Given the description of an element on the screen output the (x, y) to click on. 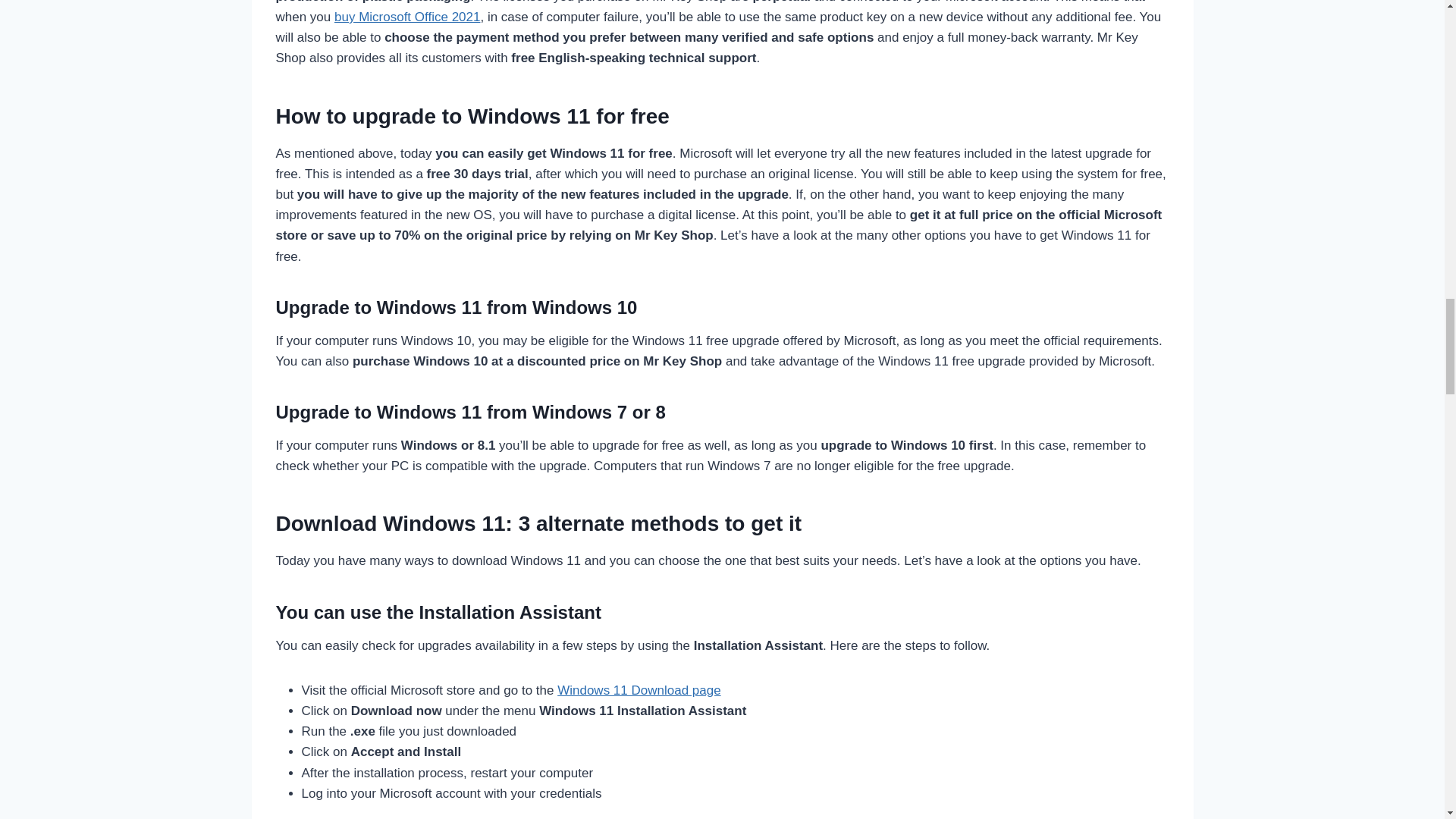
Windows 11 Download page (638, 690)
buy Microsoft Office 2021 (407, 16)
